Given the description of an element on the screen output the (x, y) to click on. 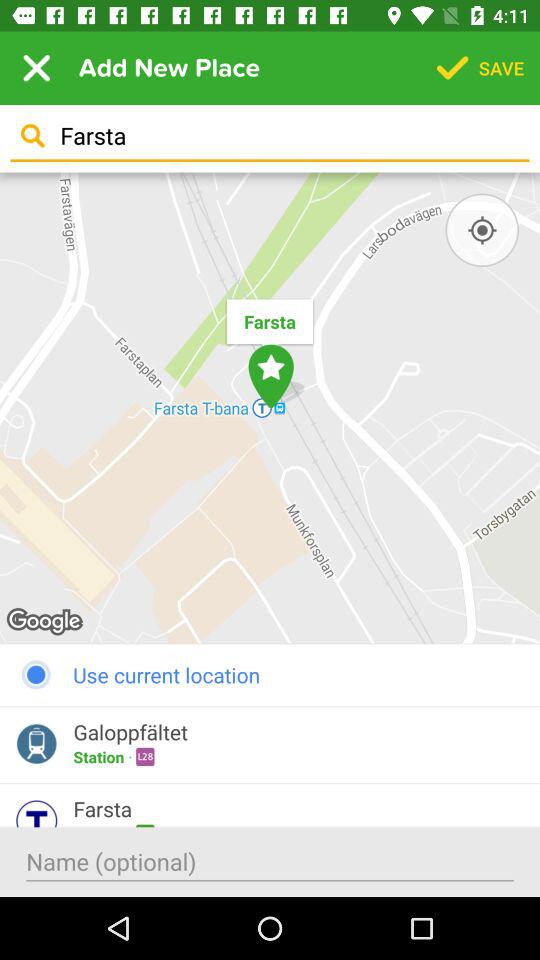
write name input field (270, 861)
